Given the description of an element on the screen output the (x, y) to click on. 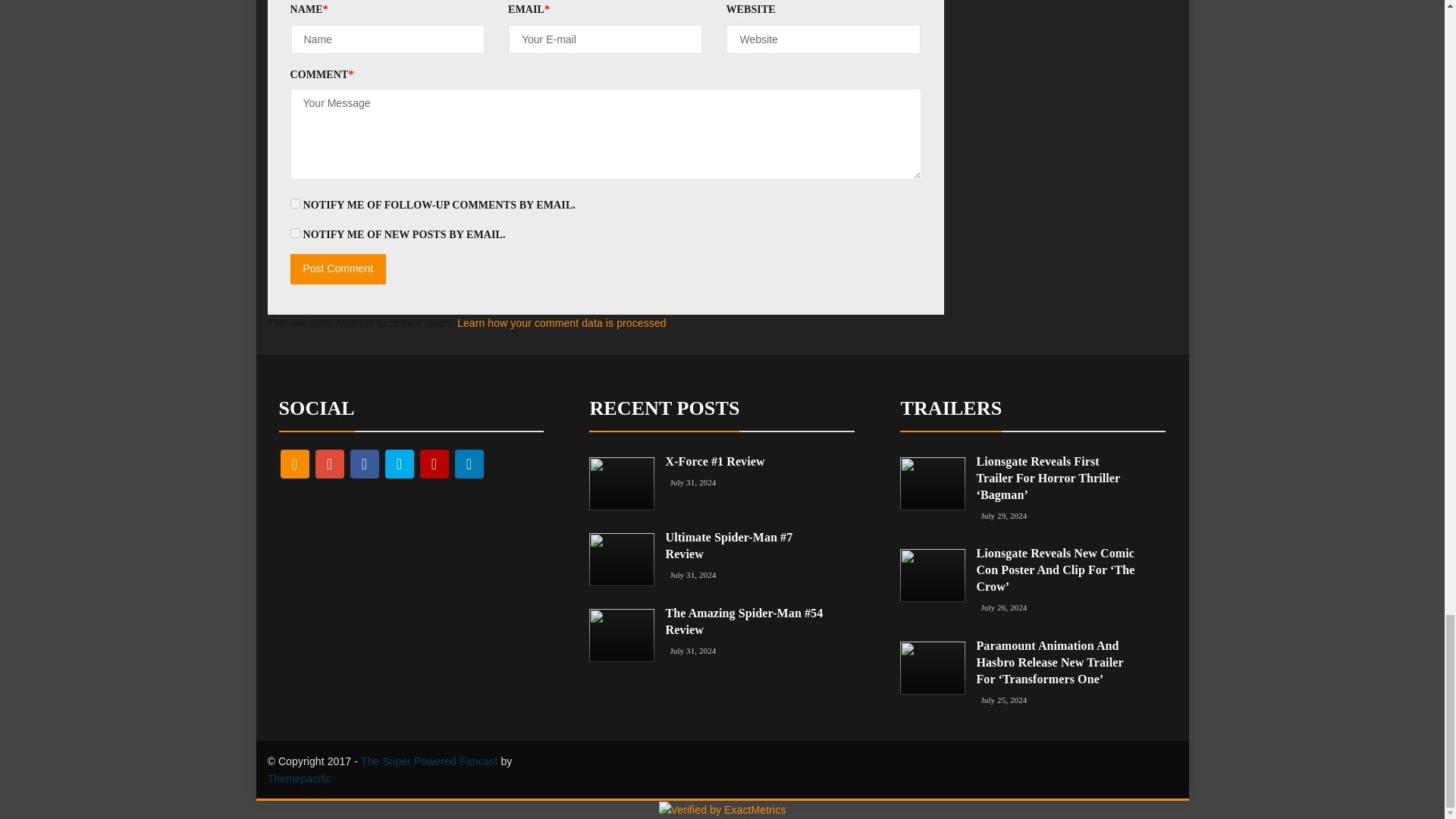
subscribe (294, 203)
subscribe (294, 233)
Post Comment (337, 268)
